Given the description of an element on the screen output the (x, y) to click on. 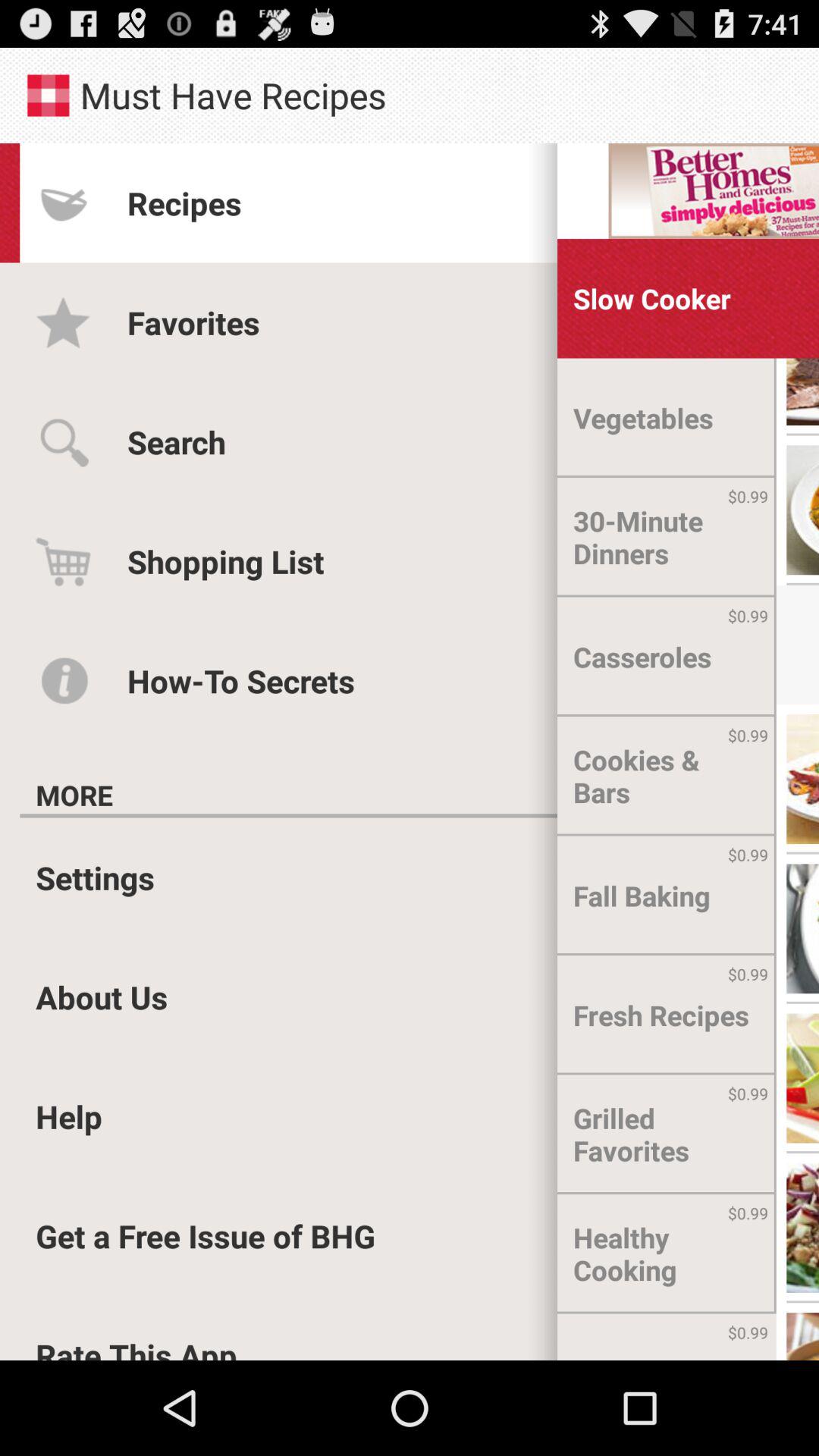
tap the item to the right of the shopping list (666, 537)
